Given the description of an element on the screen output the (x, y) to click on. 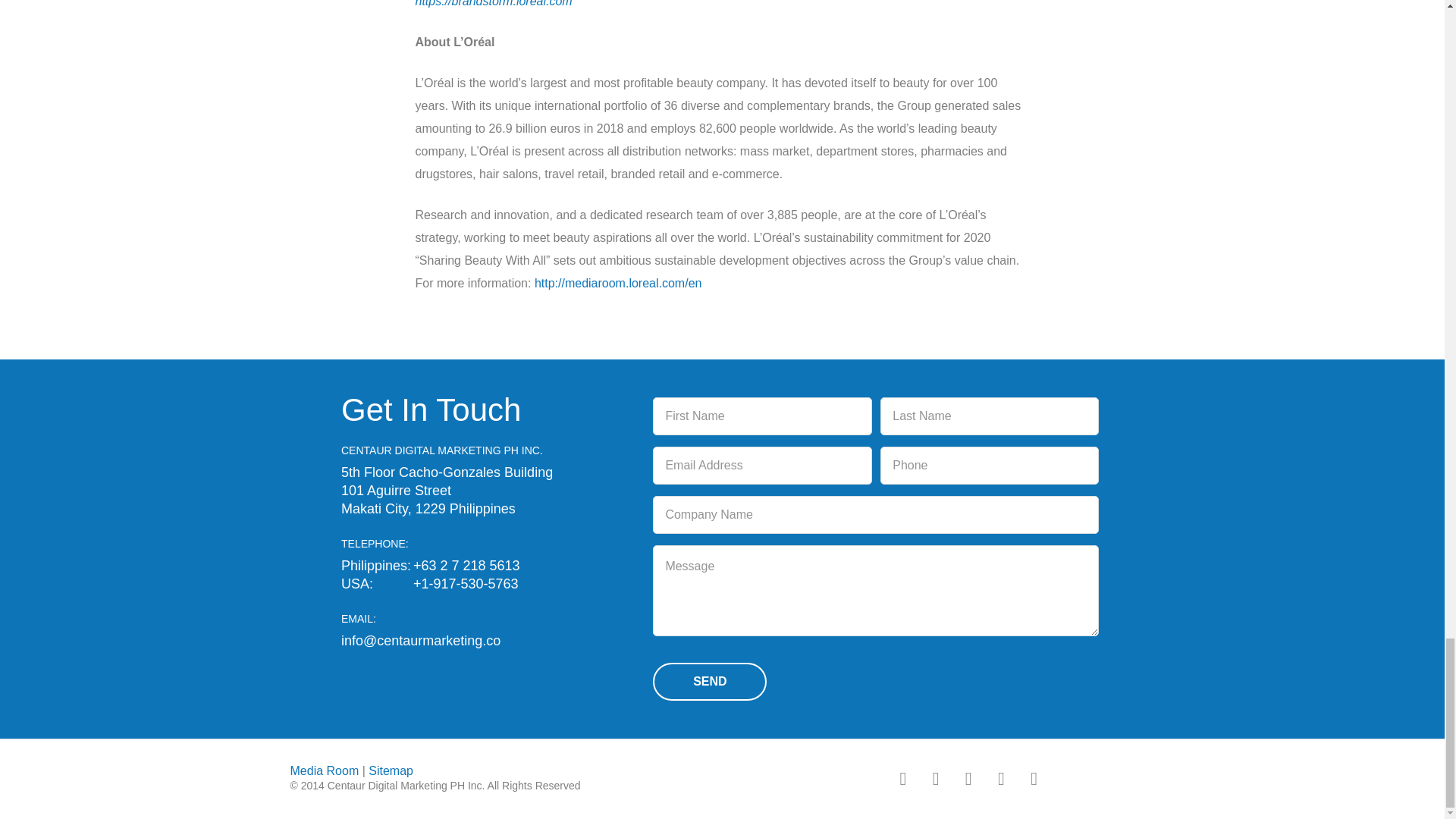
SEND (709, 681)
